Given the description of an element on the screen output the (x, y) to click on. 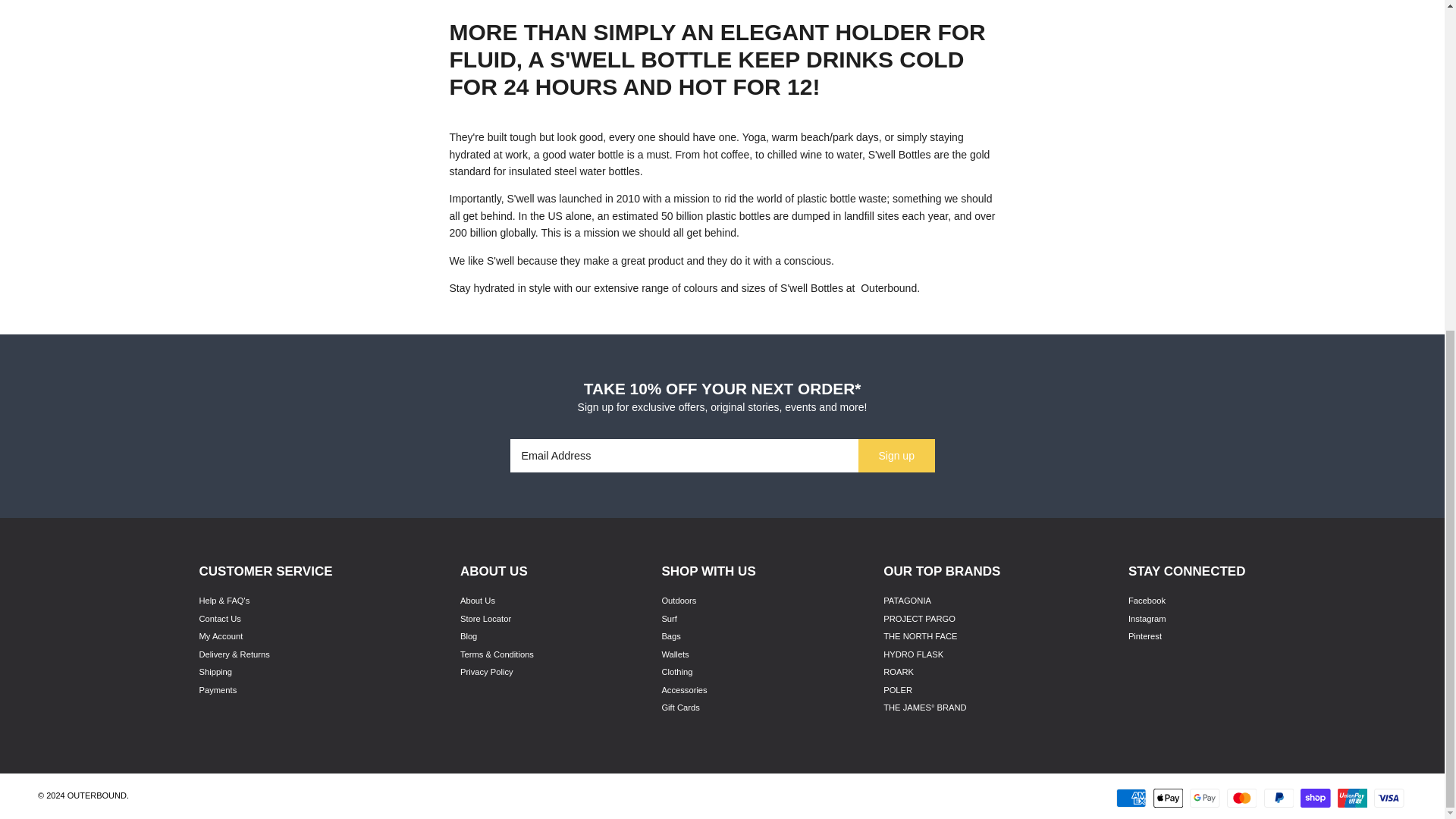
Google Pay (1204, 797)
Apple Pay (1168, 797)
Visa (1388, 797)
PayPal (1277, 797)
Union Pay (1352, 797)
American Express (1130, 797)
Mastercard (1241, 797)
Shop Pay (1315, 797)
